Given the description of an element on the screen output the (x, y) to click on. 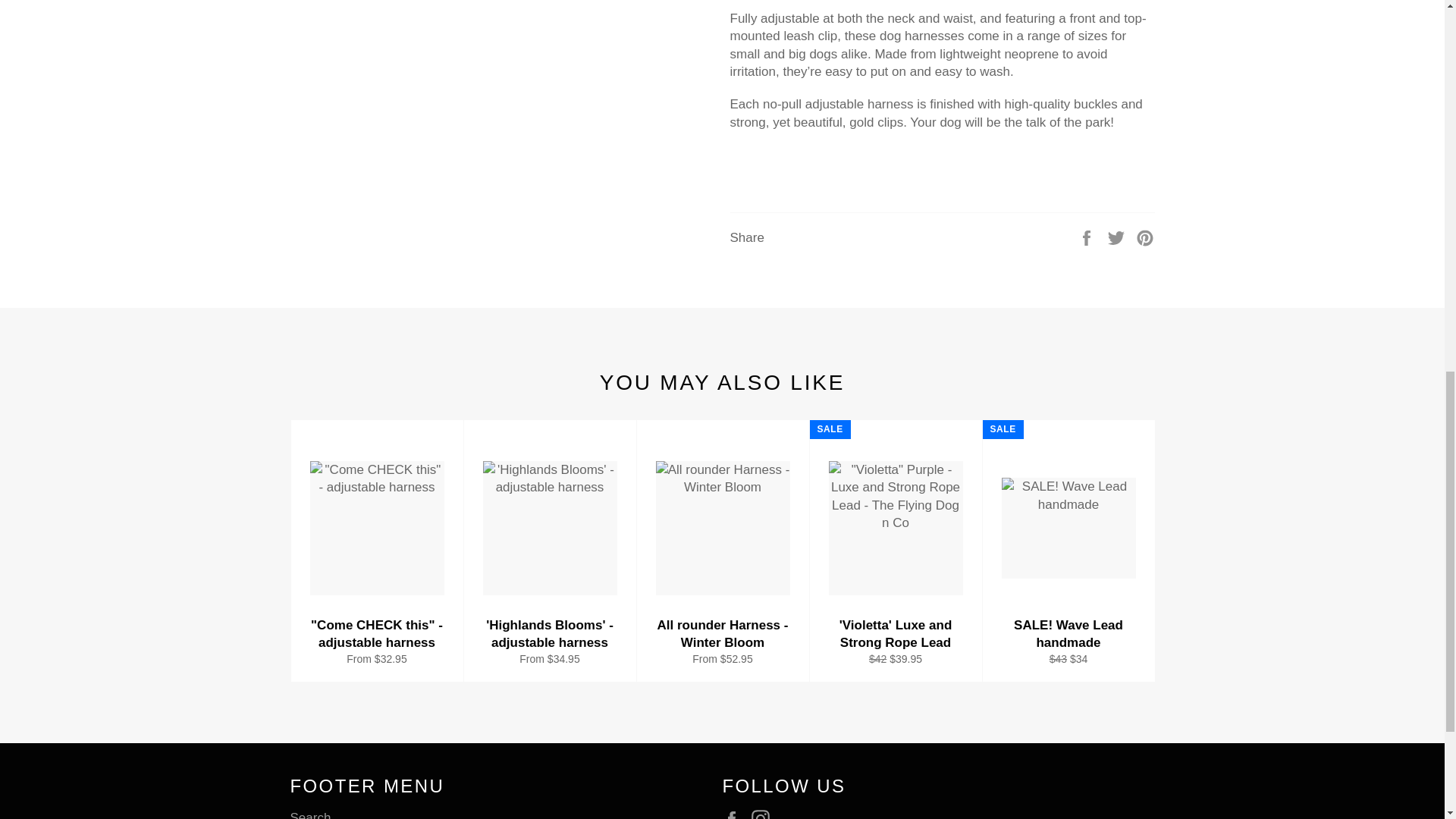
The Flying Dog n Co on Facebook (735, 814)
Tweet on Twitter (1117, 237)
Pin on Pinterest (1144, 237)
The Flying Dog n Co on Instagram (764, 814)
Share on Facebook (1088, 237)
